Given the description of an element on the screen output the (x, y) to click on. 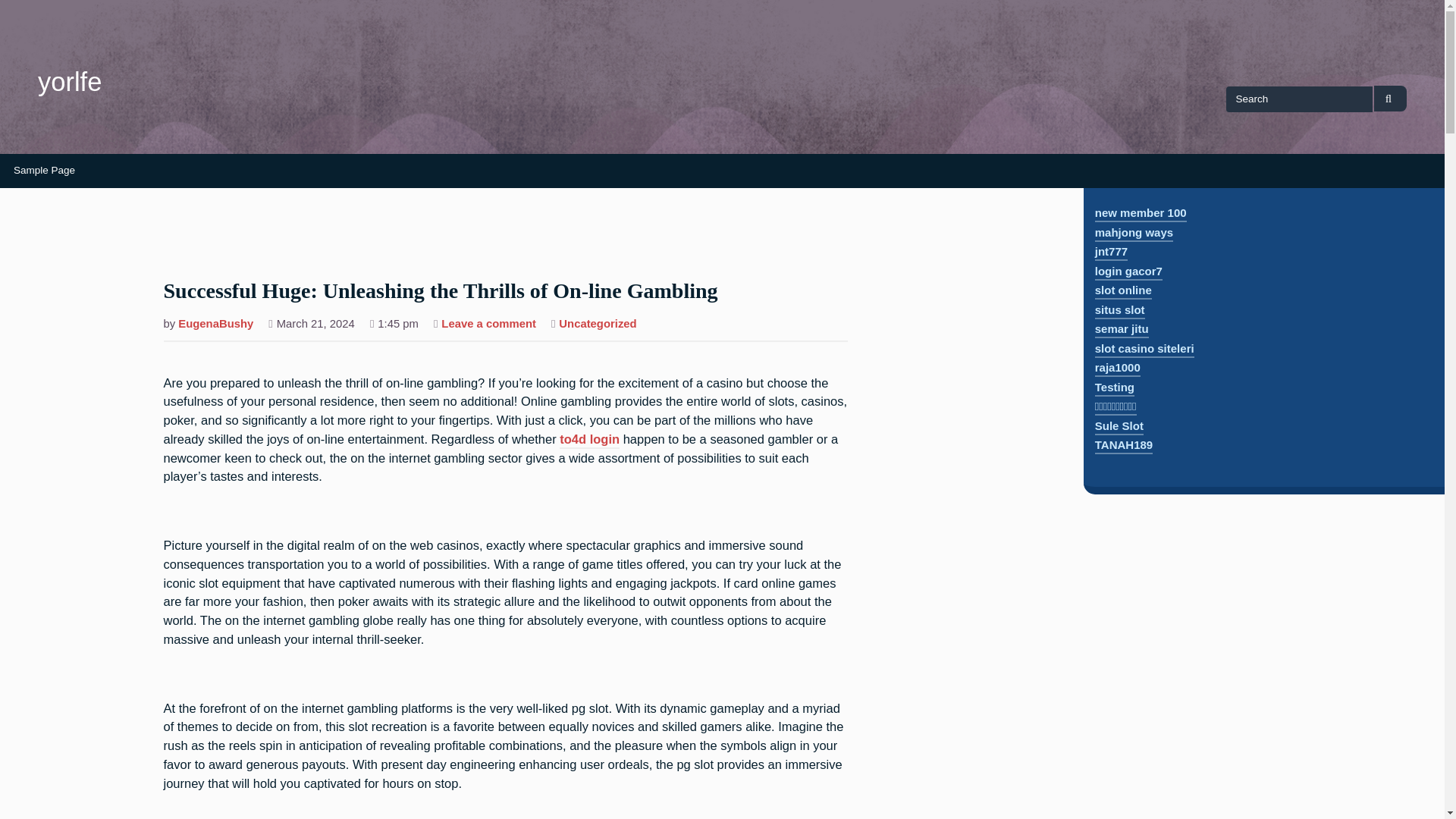
EugenaBushy (215, 324)
yorlfe (69, 81)
new member 100 (1140, 213)
slot online (1122, 291)
semar jitu (1121, 330)
Sample Page (44, 170)
situs slot (1119, 311)
Sule Slot (1118, 426)
Search (1390, 98)
jnt777 (1110, 252)
to4d login (589, 440)
login gacor7 (1127, 272)
slot casino siteleri (1143, 349)
Uncategorized (597, 324)
